Given the description of an element on the screen output the (x, y) to click on. 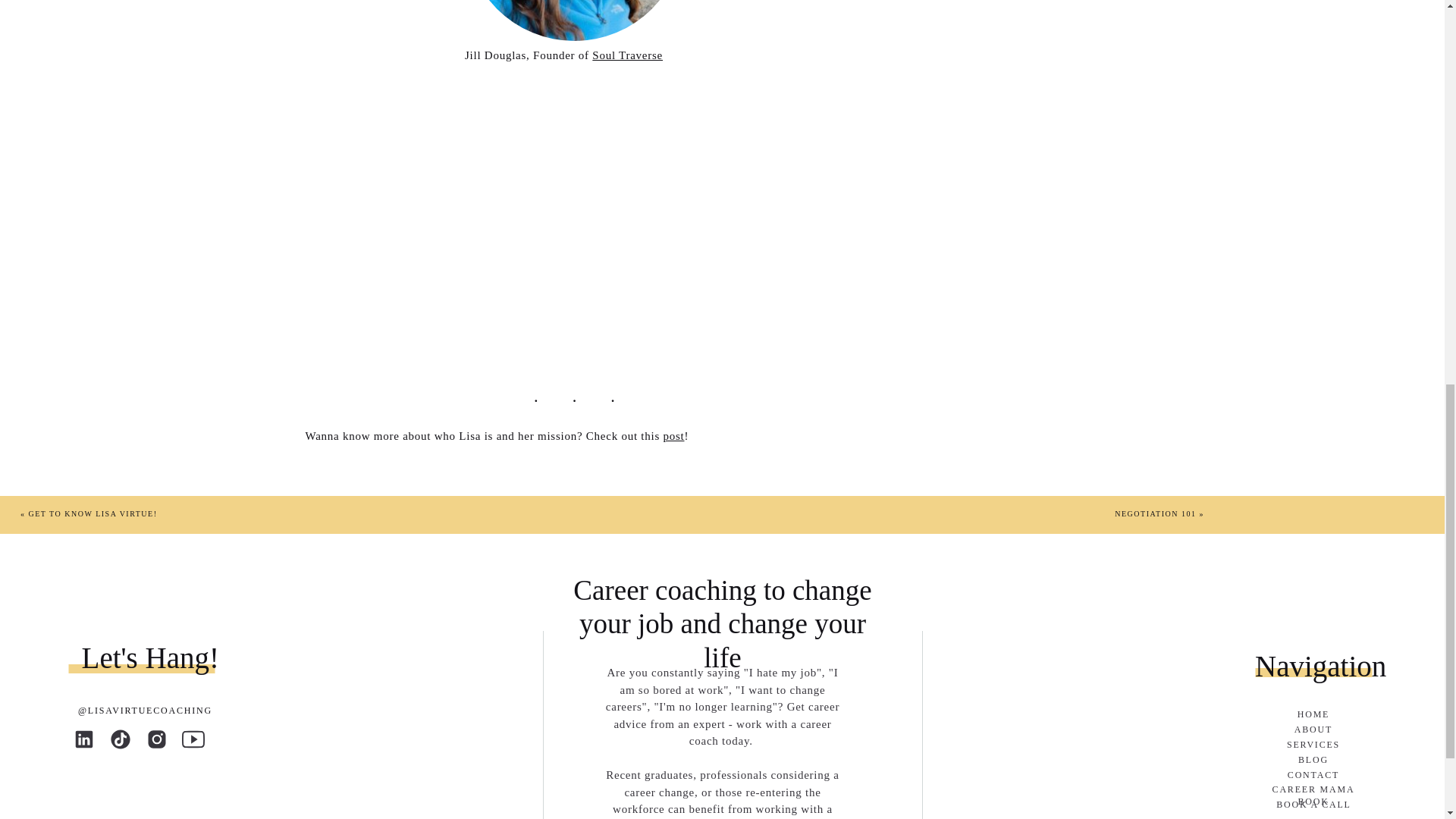
GET TO KNOW LISA VIRTUE! (93, 513)
NEGOTIATION 101 (1155, 513)
BLOG (1312, 760)
HOME (1312, 715)
Soul Traverse (627, 54)
CONTACT (1312, 775)
SERVICES (1312, 745)
ABOUT (1312, 730)
post (673, 435)
CAREER MAMA BOOK (1313, 789)
BOOK A CALL (1313, 805)
